Given the description of an element on the screen output the (x, y) to click on. 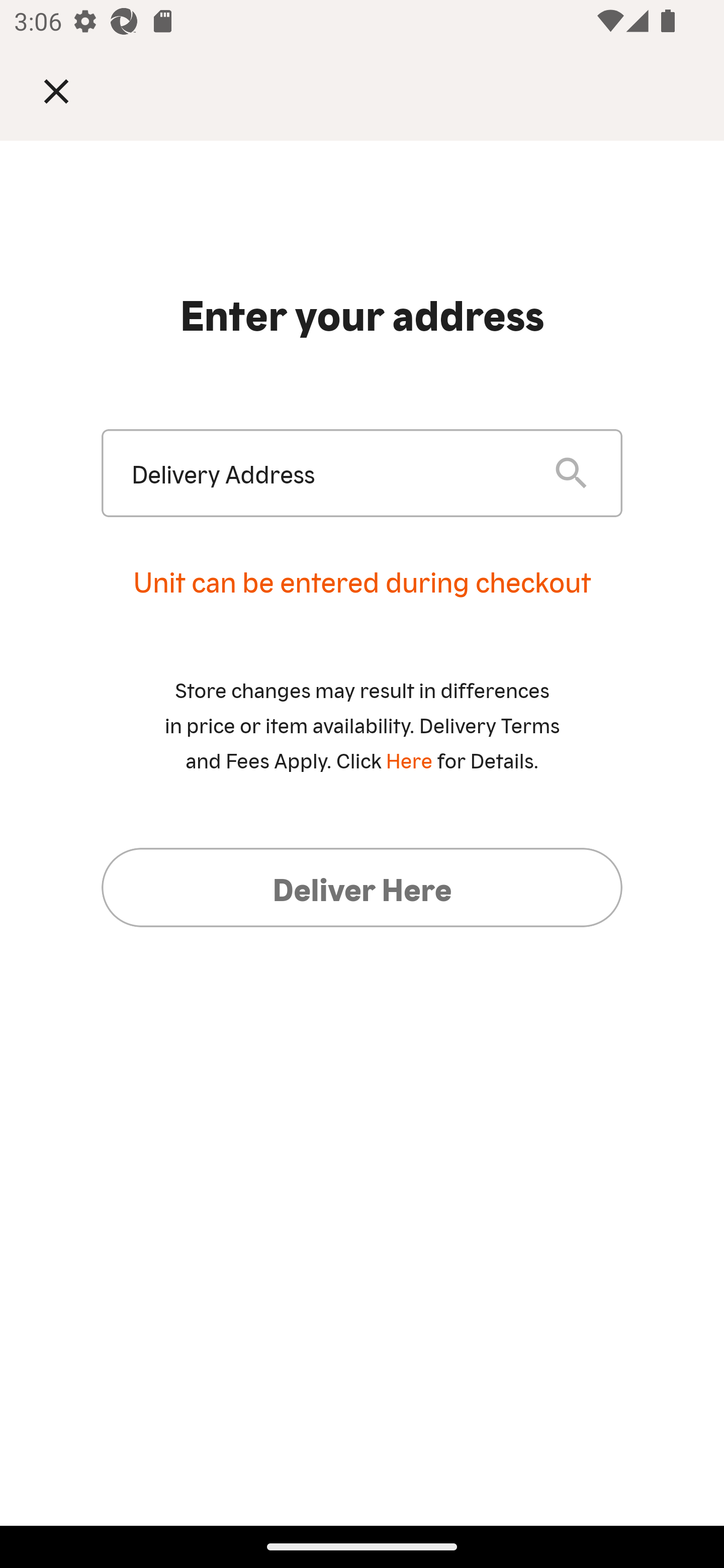
 (70, 90)
Delivery Address (326, 473)
Deliver Here (361, 887)
